Given the description of an element on the screen output the (x, y) to click on. 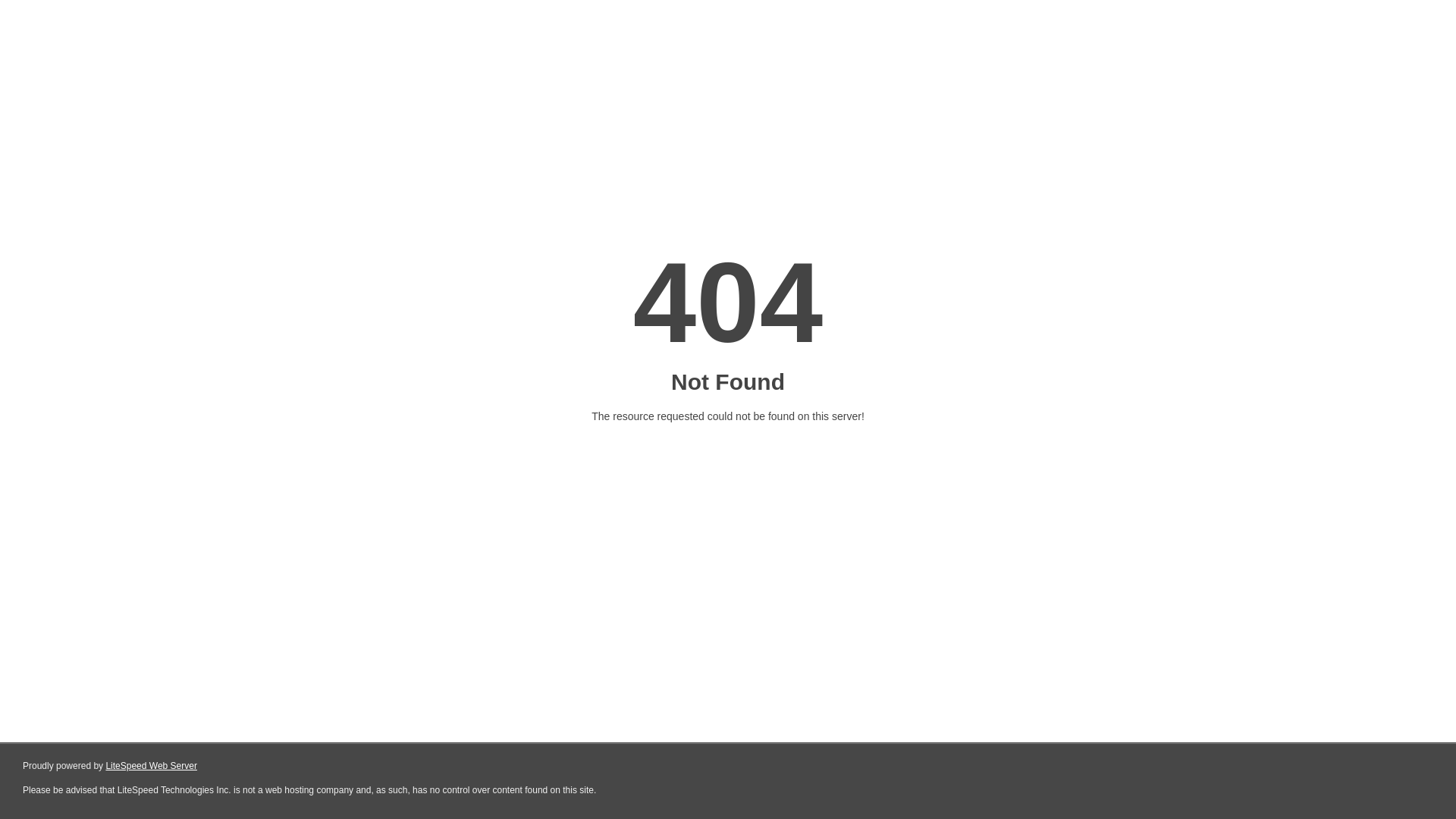
LiteSpeed Web Server Element type: text (151, 765)
